Given the description of an element on the screen output the (x, y) to click on. 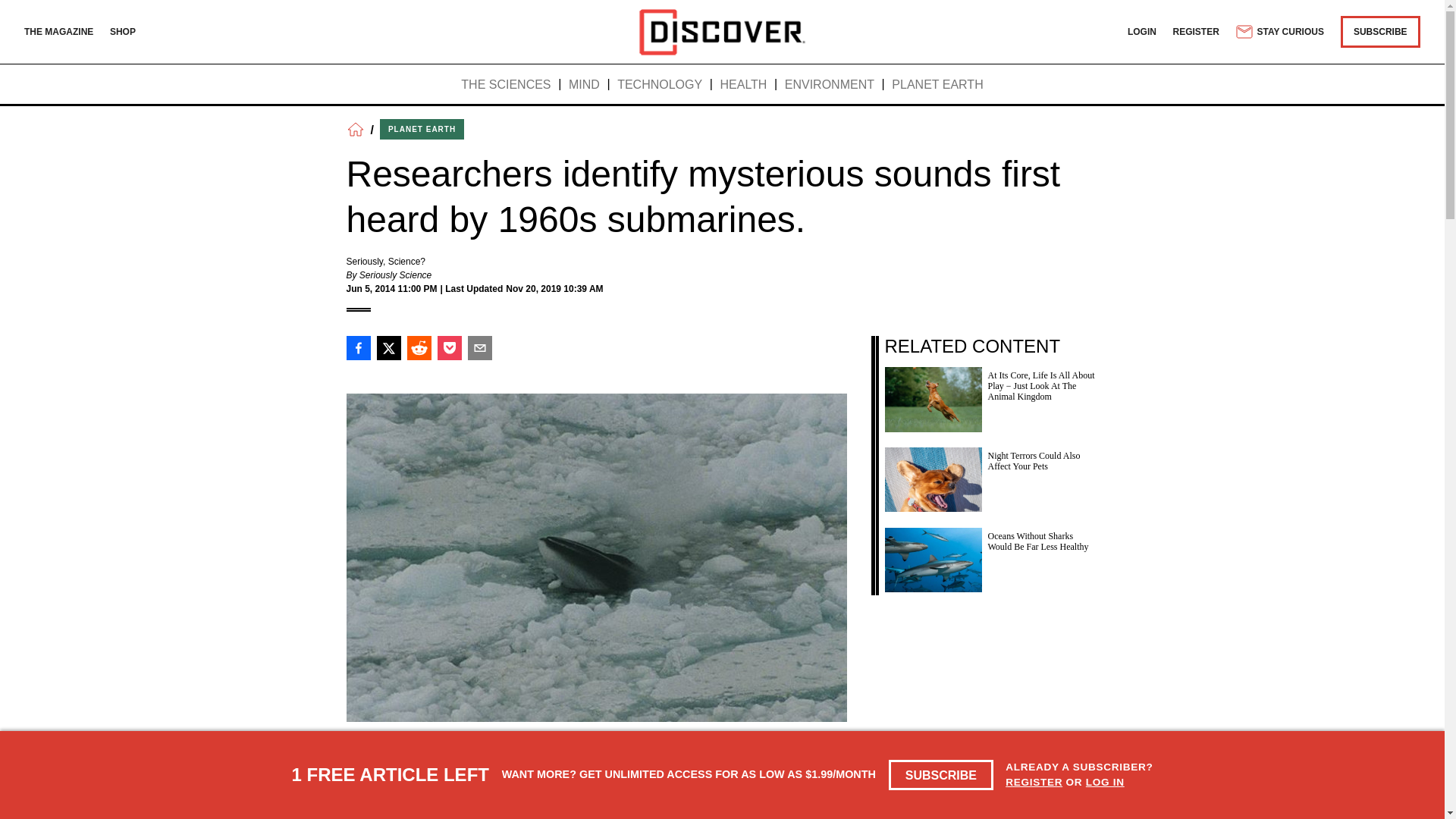
HEALTH (743, 84)
Oceans Without Sharks Would Be Far Less Healthy (990, 555)
Seriously Science (394, 275)
TECHNOLOGY (659, 84)
ENVIRONMENT (829, 84)
SUBSCRIBE (941, 775)
THE SCIENCES (505, 84)
REGISTER (1196, 31)
MIND (584, 84)
PLANET EARTH (936, 84)
